Given the description of an element on the screen output the (x, y) to click on. 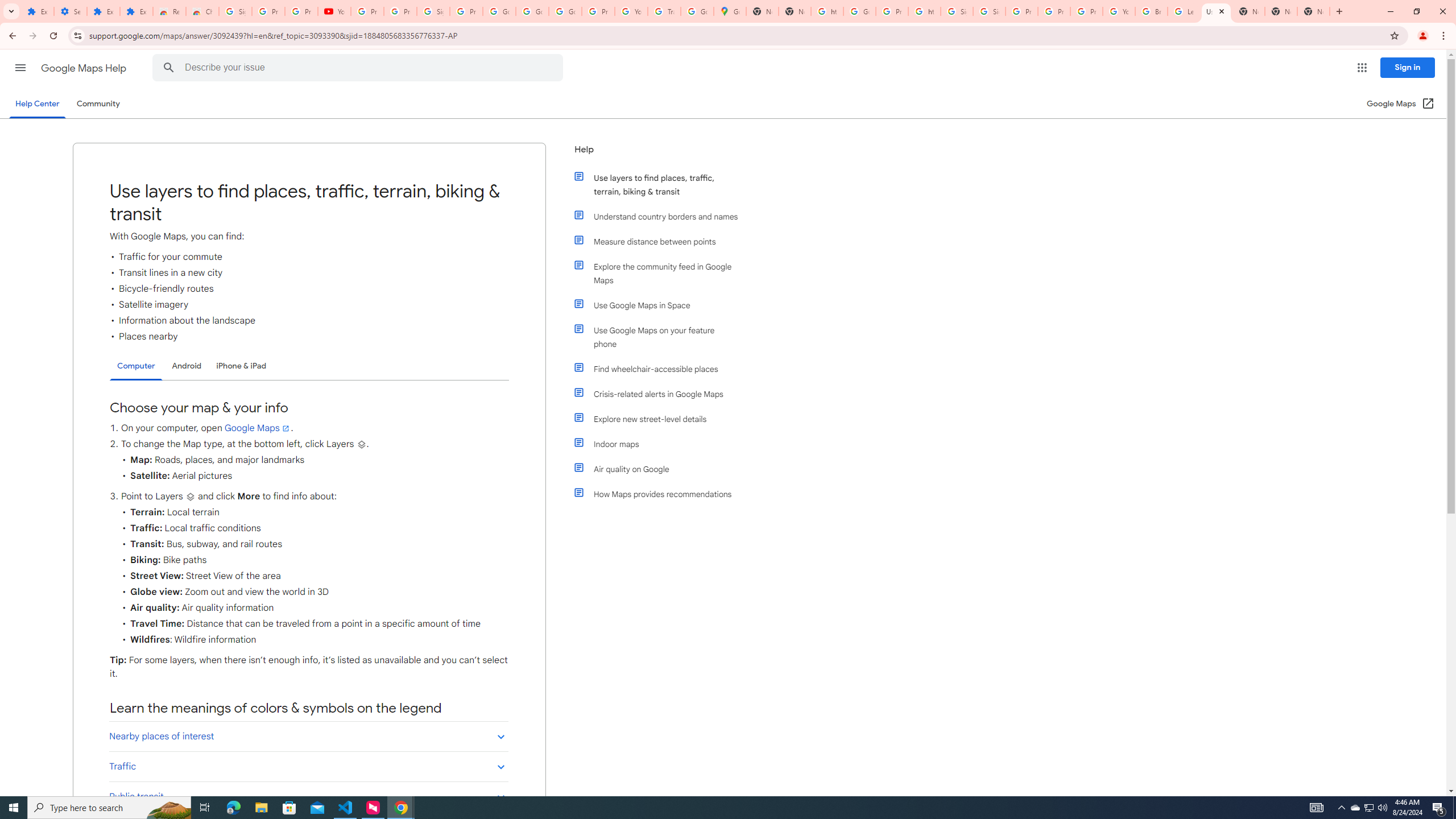
Measure distance between points (661, 241)
YouTube (334, 11)
Minimize (1390, 11)
Bookmark this tab (1393, 35)
Understand country borders and names (661, 216)
You (1422, 35)
Back (10, 35)
Search tabs (10, 11)
iPhone & iPad (240, 365)
Sign in - Google Accounts (433, 11)
